Given the description of an element on the screen output the (x, y) to click on. 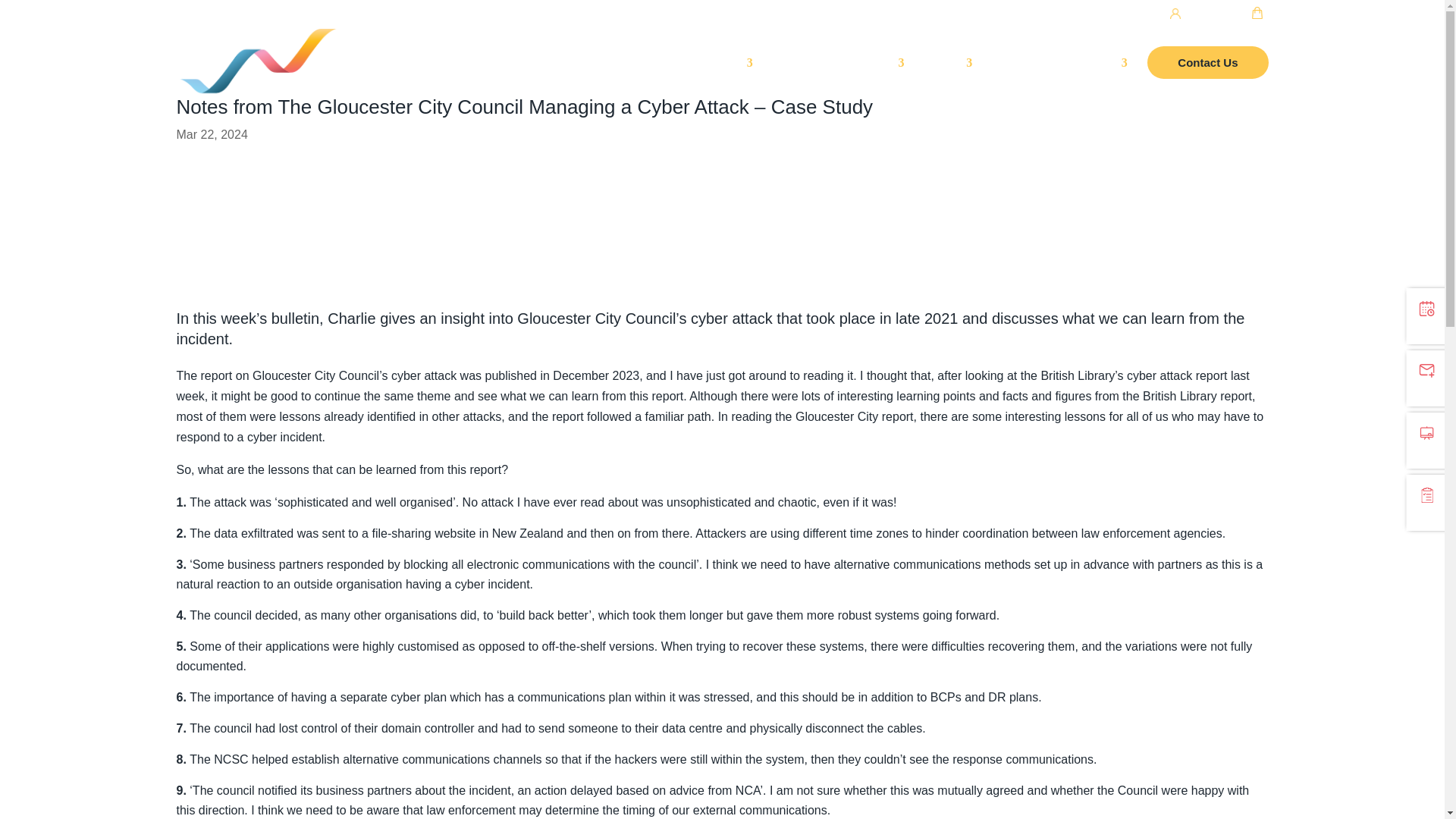
Products (797, 80)
View Cart (1234, 14)
Services (873, 80)
My Account (1147, 15)
Resources (1090, 80)
Bulletin (1012, 80)
Contact Us (1207, 80)
Courses (722, 80)
About (948, 80)
